Given the description of an element on the screen output the (x, y) to click on. 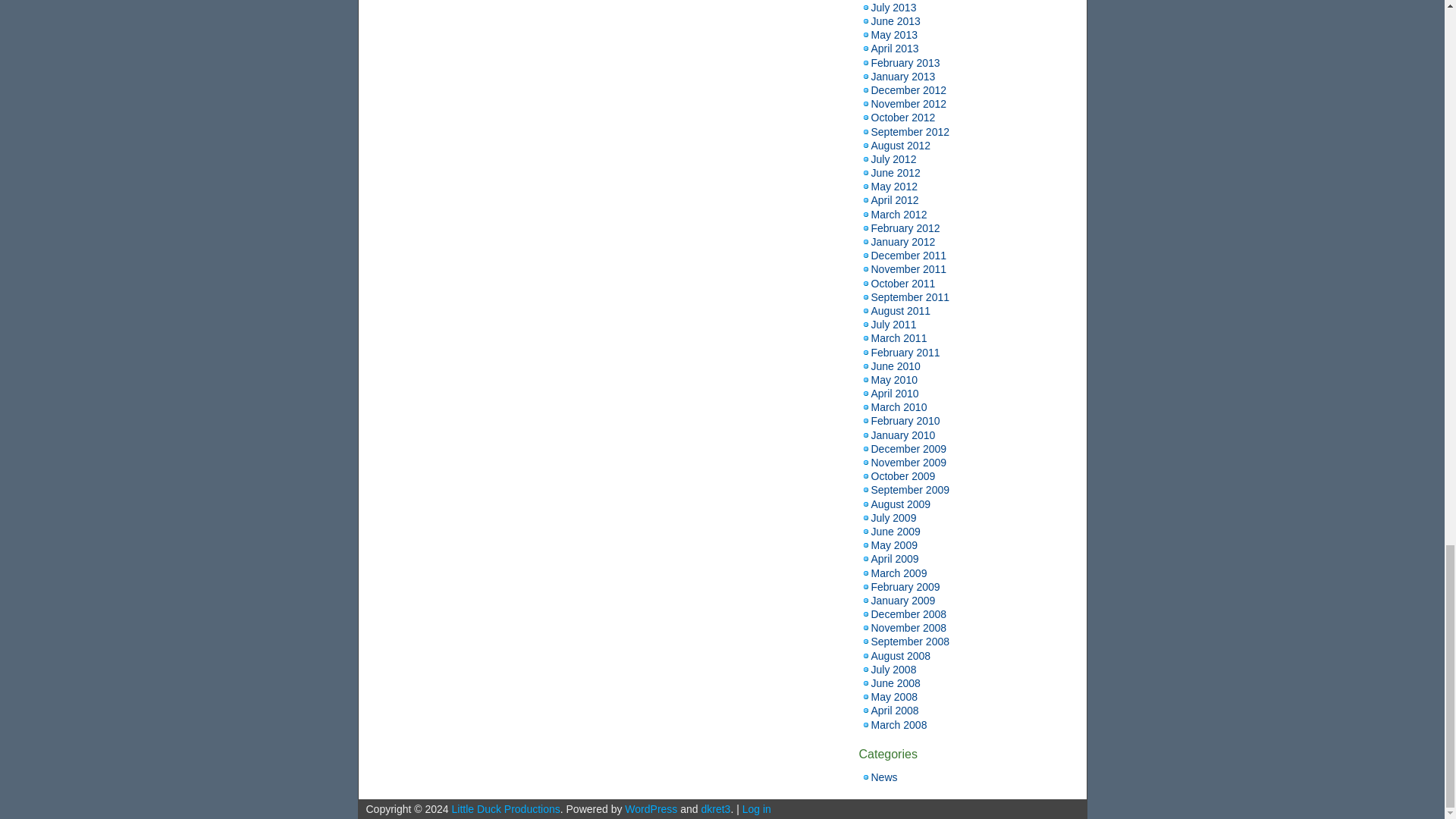
dkret3 4.7.1 (715, 808)
Powered by WordPress (650, 808)
Little Duck Productions (505, 808)
